Given the description of an element on the screen output the (x, y) to click on. 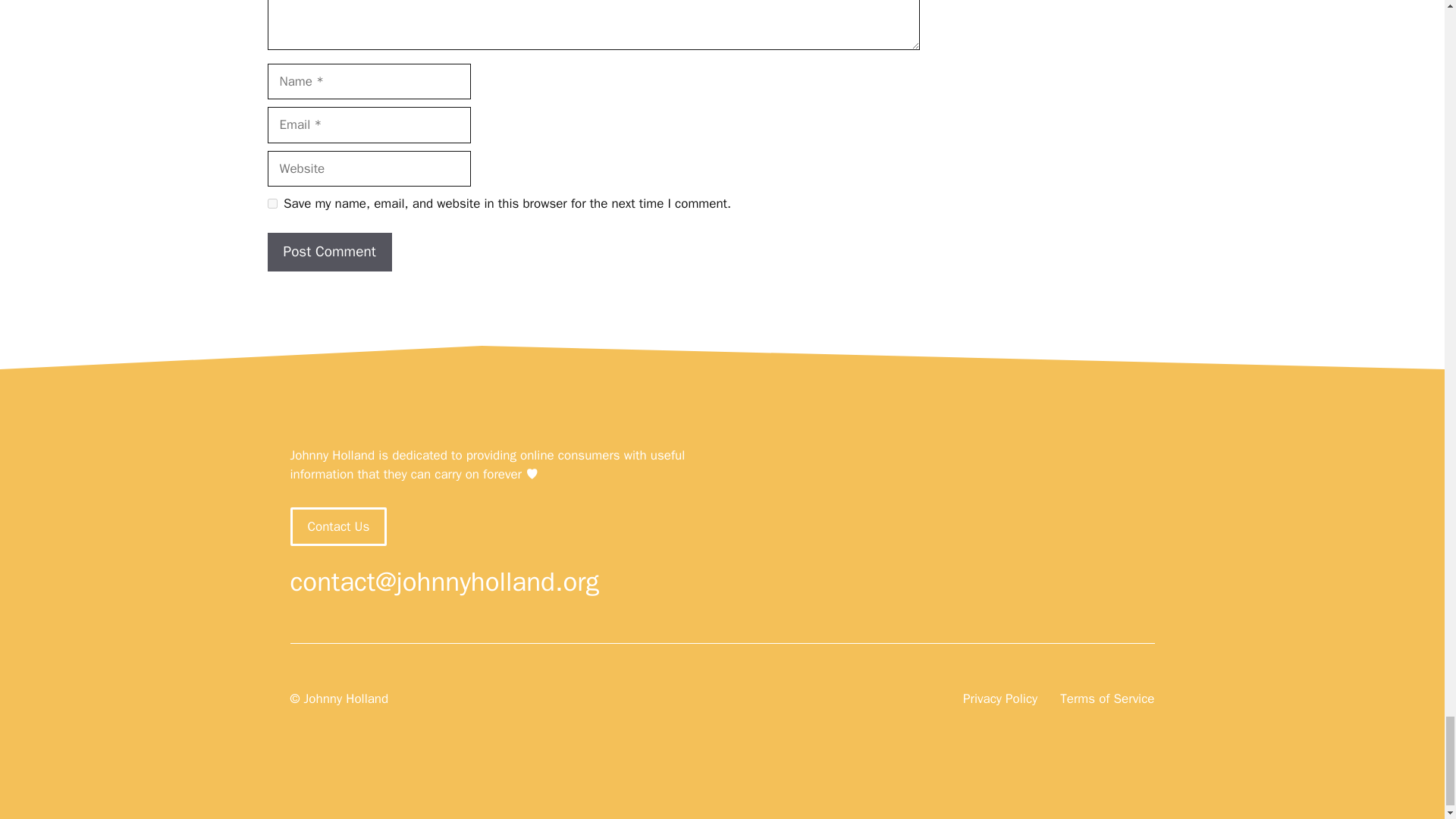
Post Comment (328, 251)
yes (271, 203)
Post Comment (328, 251)
Terms of Service (1106, 699)
Contact Us (338, 526)
Privacy Policy (999, 699)
